Given the description of an element on the screen output the (x, y) to click on. 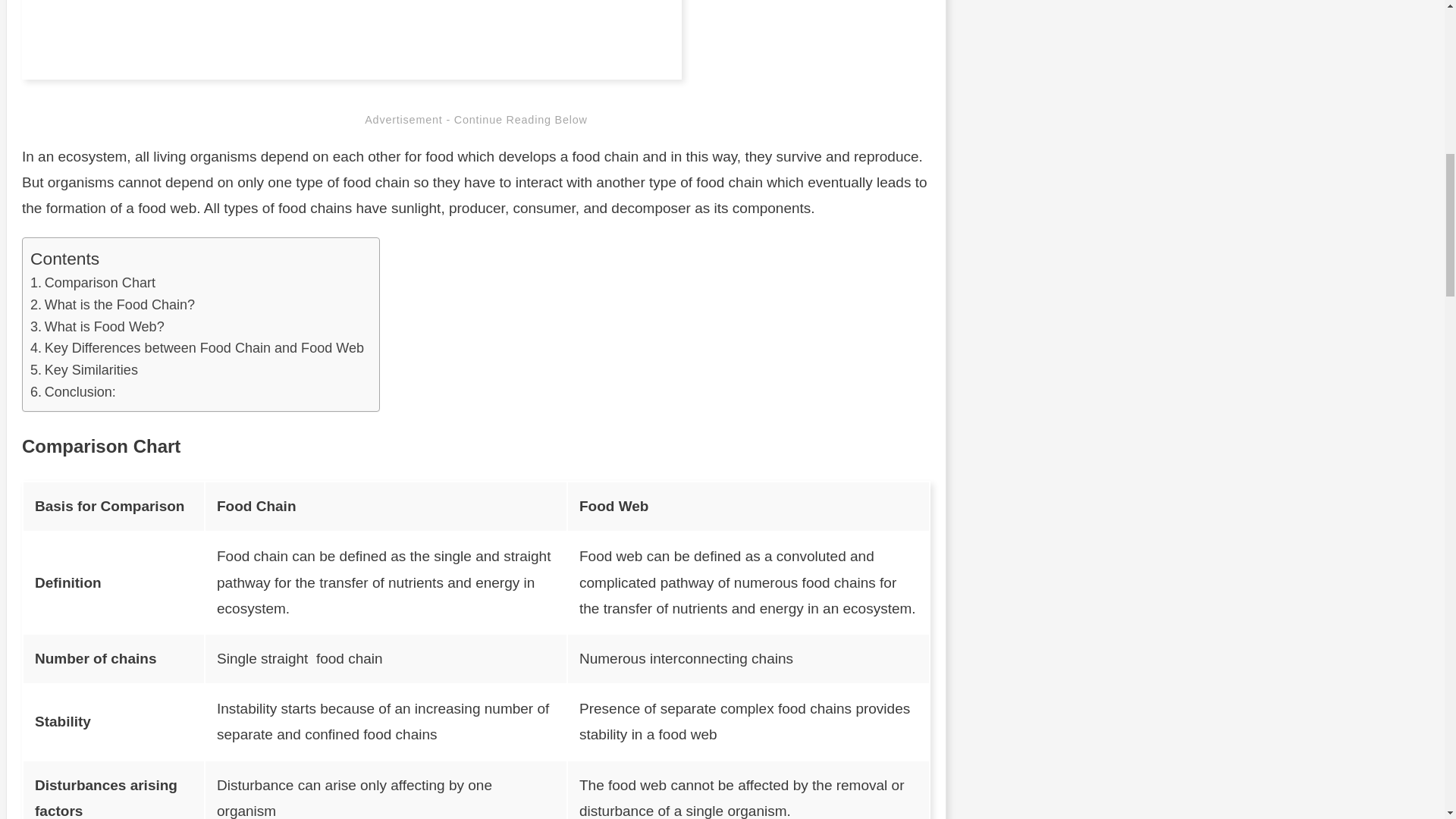
Comparison Chart (92, 282)
Comparison Chart (92, 282)
Key Differences between Food Chain and Food Web (197, 348)
Conclusion: (73, 392)
What is the Food Chain? (112, 305)
What is Food Web? (97, 327)
Key Differences between Food Chain and Food Web (197, 348)
What is the Food Chain? (112, 305)
Key Similarities (84, 370)
Conclusion: (73, 392)
Key Similarities (84, 370)
What is Food Web? (97, 327)
